Given the description of an element on the screen output the (x, y) to click on. 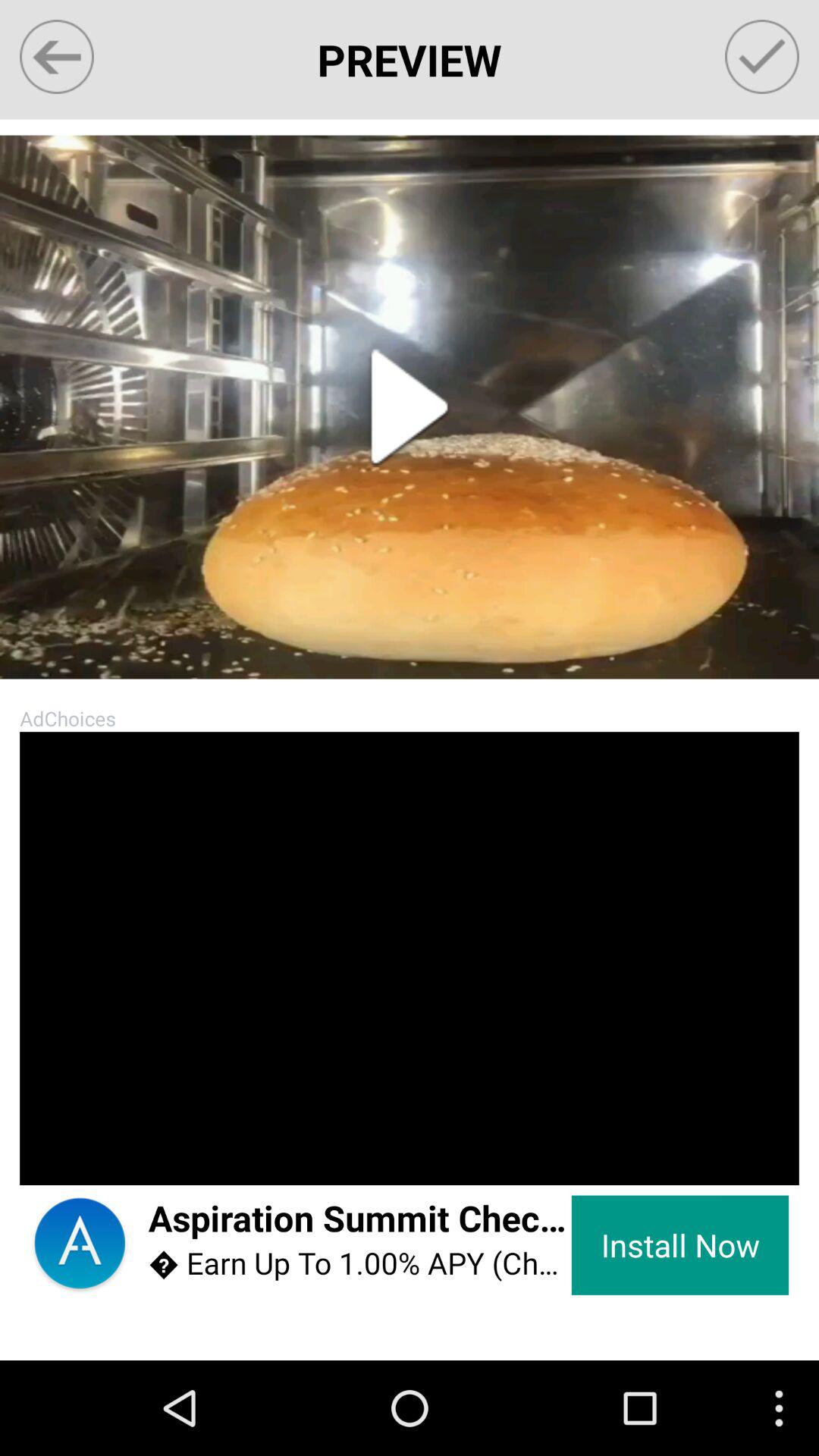
button to play the video (409, 406)
